Given the description of an element on the screen output the (x, y) to click on. 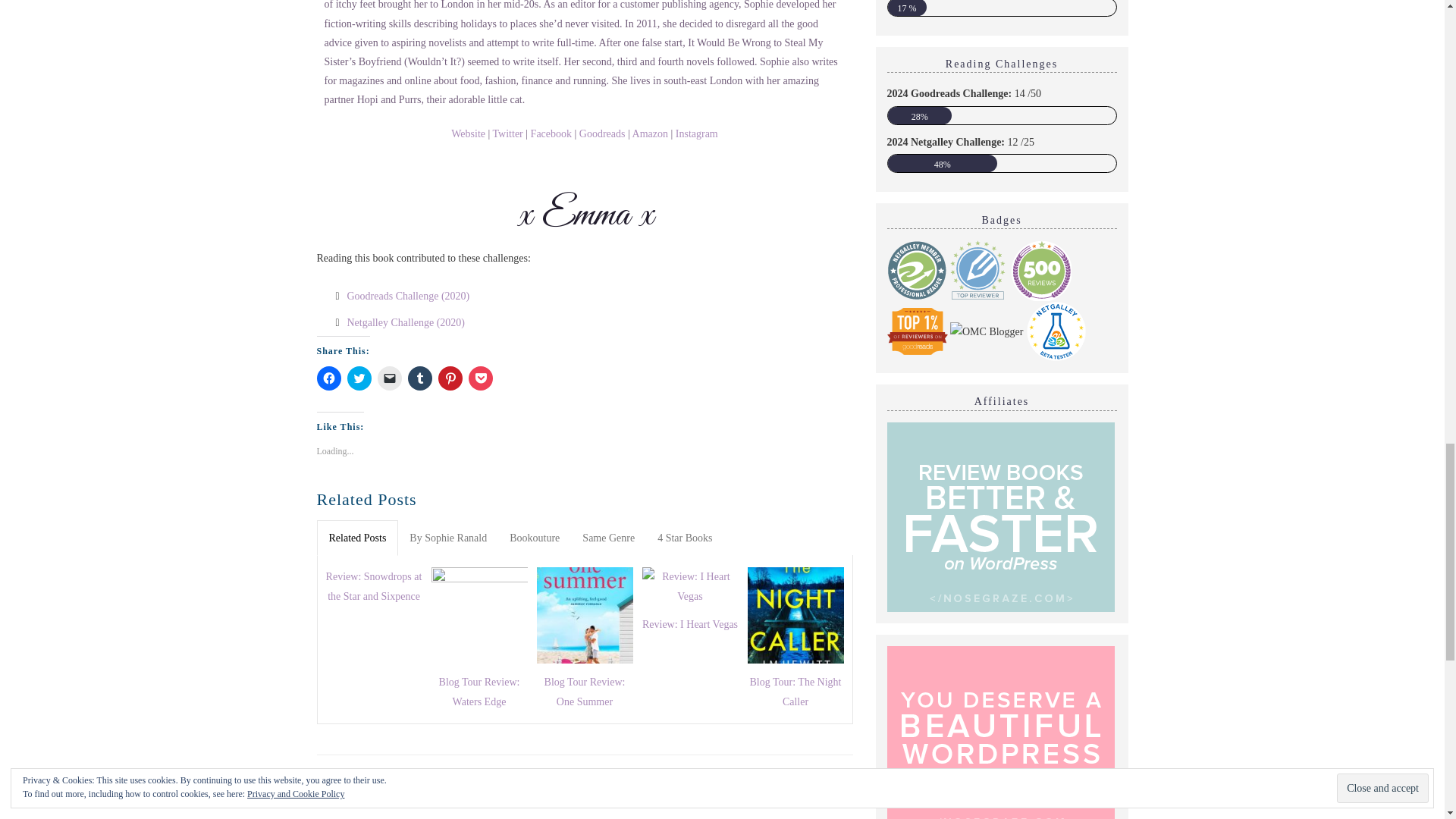
NetGalley Beta Tester (1056, 331)
Reviews Published (978, 270)
Goodreads top 1 (916, 330)
Professional Reader (916, 270)
Twitter (507, 133)
Click to share on Twitter (359, 378)
Click to share on Pinterest (450, 378)
100 Book Reviews (1040, 270)
OMC Blogger (986, 331)
Click to share on Tumblr (419, 378)
